Given the description of an element on the screen output the (x, y) to click on. 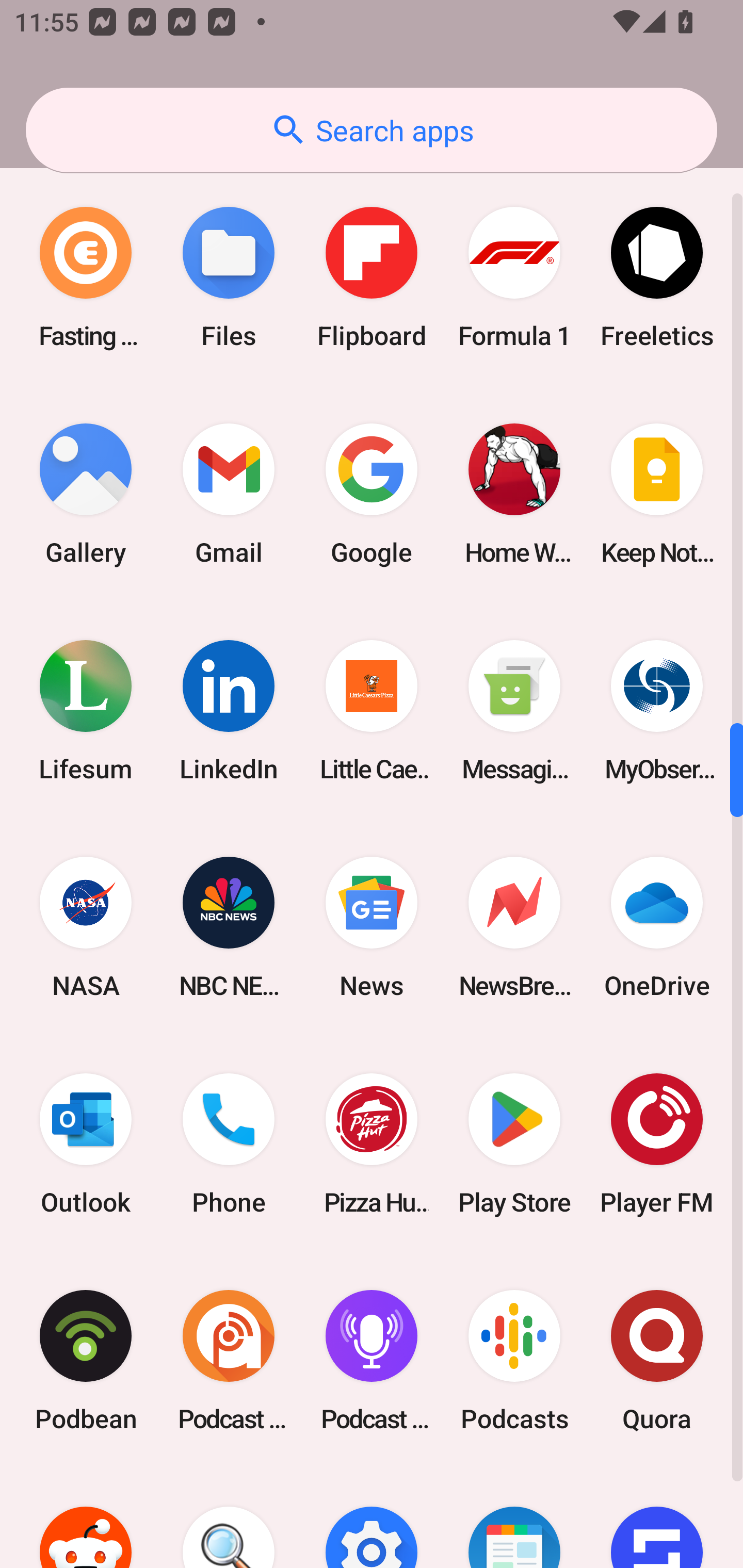
  Search apps (371, 130)
Fasting Coach (85, 277)
Files (228, 277)
Flipboard (371, 277)
Formula 1 (514, 277)
Freeletics (656, 277)
Gallery (85, 493)
Gmail (228, 493)
Google (371, 493)
Home Workout (514, 493)
Keep Notes (656, 493)
Lifesum (85, 710)
LinkedIn (228, 710)
Little Caesars Pizza (371, 710)
Messaging (514, 710)
MyObservatory (656, 710)
NASA (85, 927)
NBC NEWS (228, 927)
News (371, 927)
NewsBreak (514, 927)
OneDrive (656, 927)
Outlook (85, 1144)
Phone (228, 1144)
Pizza Hut HK & Macau (371, 1144)
Play Store (514, 1144)
Player FM (656, 1144)
Podbean (85, 1360)
Podcast Addict (228, 1360)
Podcast Player (371, 1360)
Podcasts (514, 1360)
Quora (656, 1360)
Reddit (85, 1518)
Search (228, 1518)
Settings (371, 1518)
SmartNews (514, 1518)
Sofascore (656, 1518)
